Given the description of an element on the screen output the (x, y) to click on. 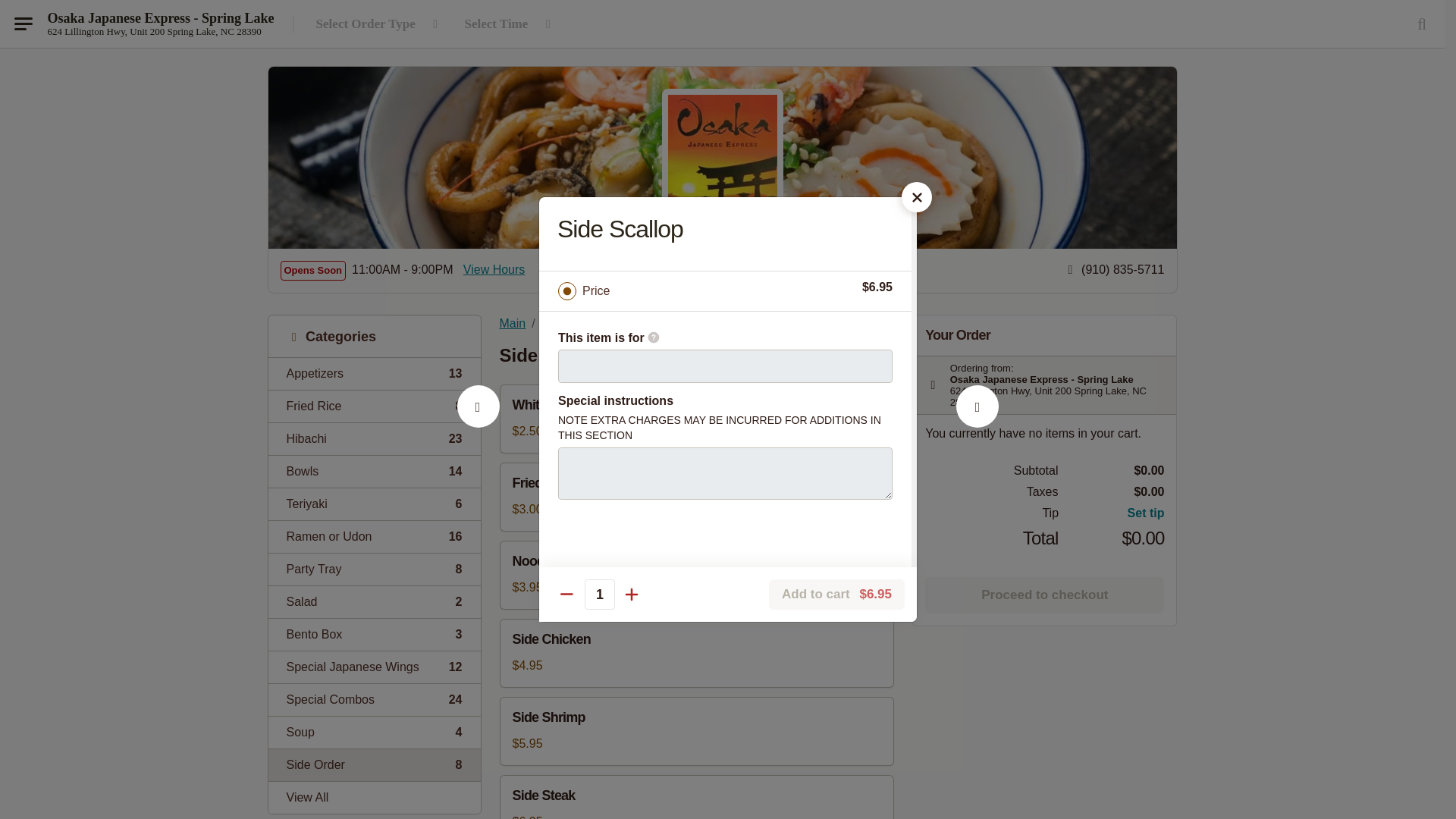
Proceed to checkout (373, 373)
Side Steak (373, 536)
Select Time (373, 568)
Side Filet Mignon (373, 601)
View Hours (373, 666)
Select Order Type (1043, 595)
